Given the description of an element on the screen output the (x, y) to click on. 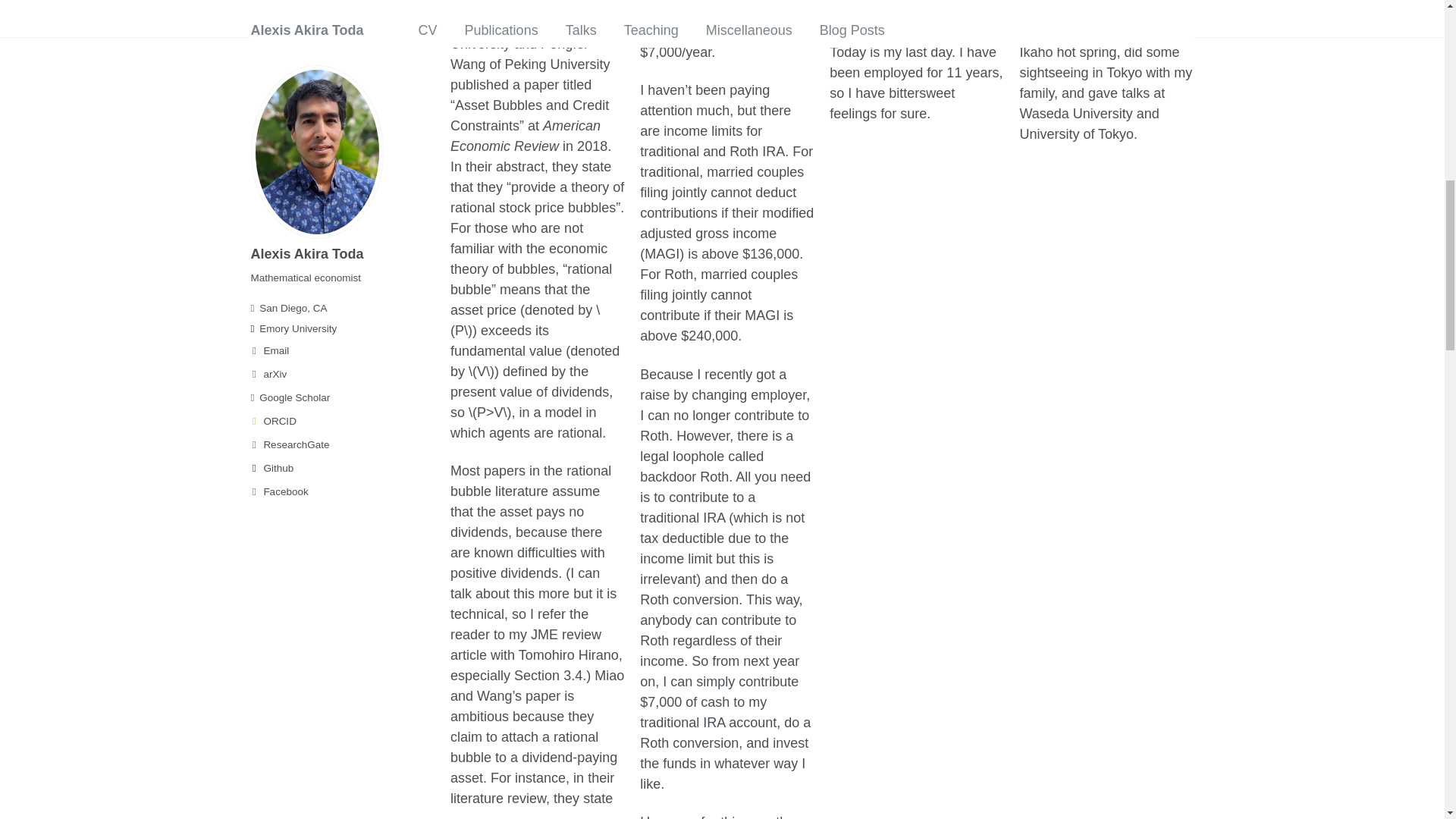
Jianjun Miao (488, 23)
Asset Bubbles and Credit Constraints (528, 115)
Tomohiro Hirano (568, 654)
Pengfei Wang (517, 54)
JME review article (525, 644)
